Given the description of an element on the screen output the (x, y) to click on. 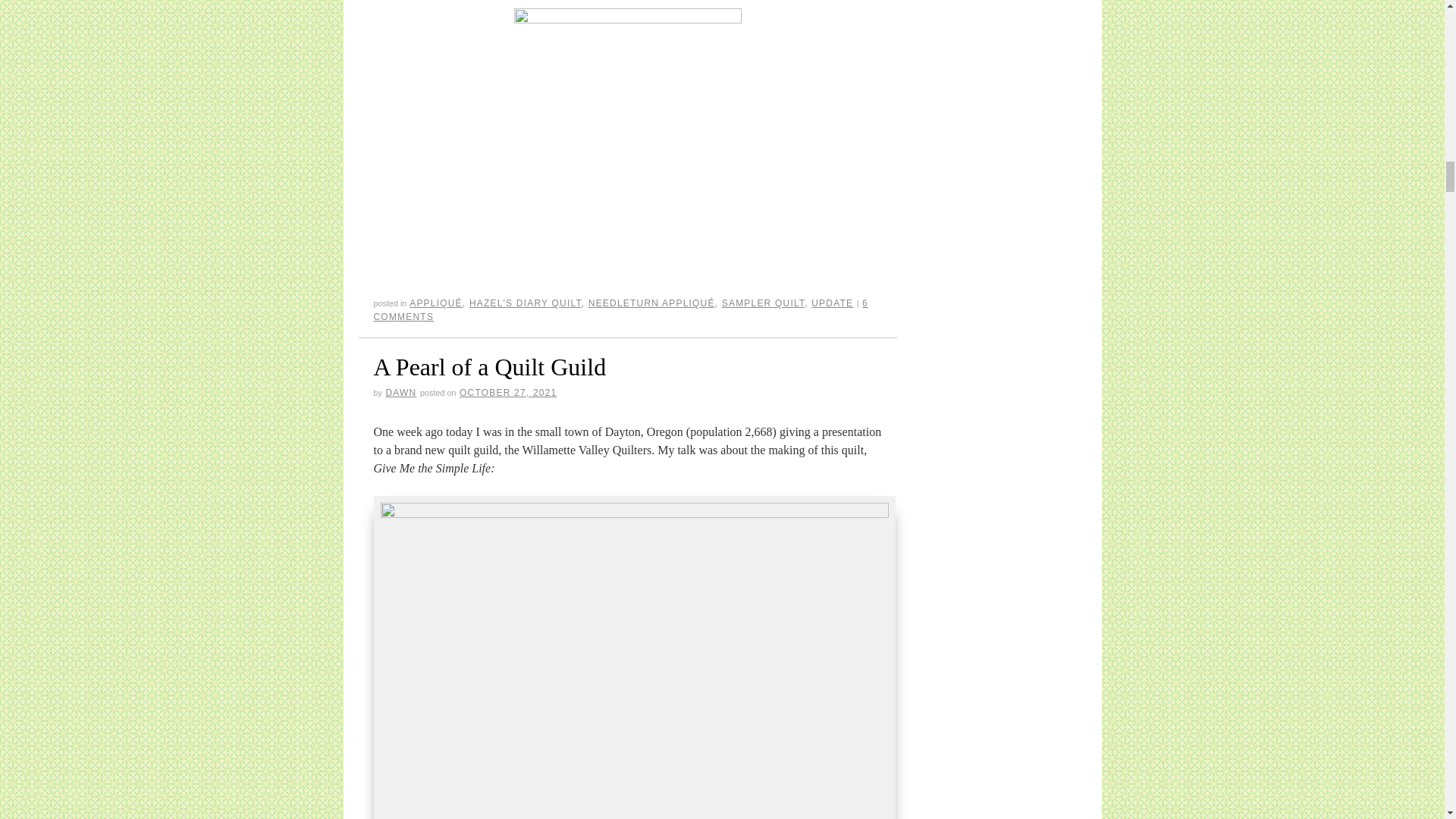
View all posts by Dawn (400, 392)
4:17 pm (508, 392)
Permalink to A Pearl of a Quilt Guild (488, 366)
